Given the description of an element on the screen output the (x, y) to click on. 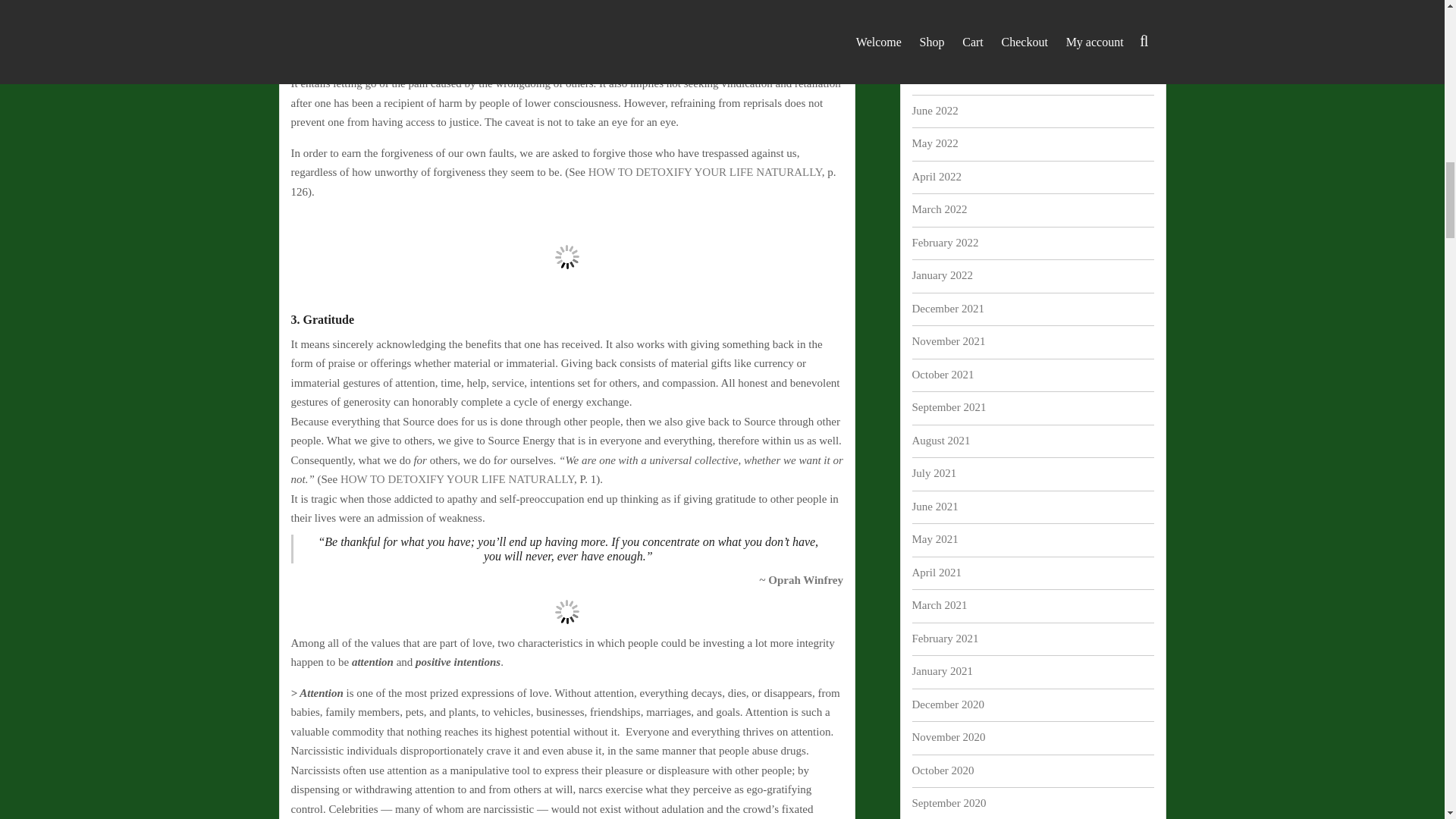
HOW TO DETOXIFY YOUR LIFE NATURALLY (705, 172)
HOW TO DETOXIFY YOUR LIFE NATURALLY (456, 479)
